Given the description of an element on the screen output the (x, y) to click on. 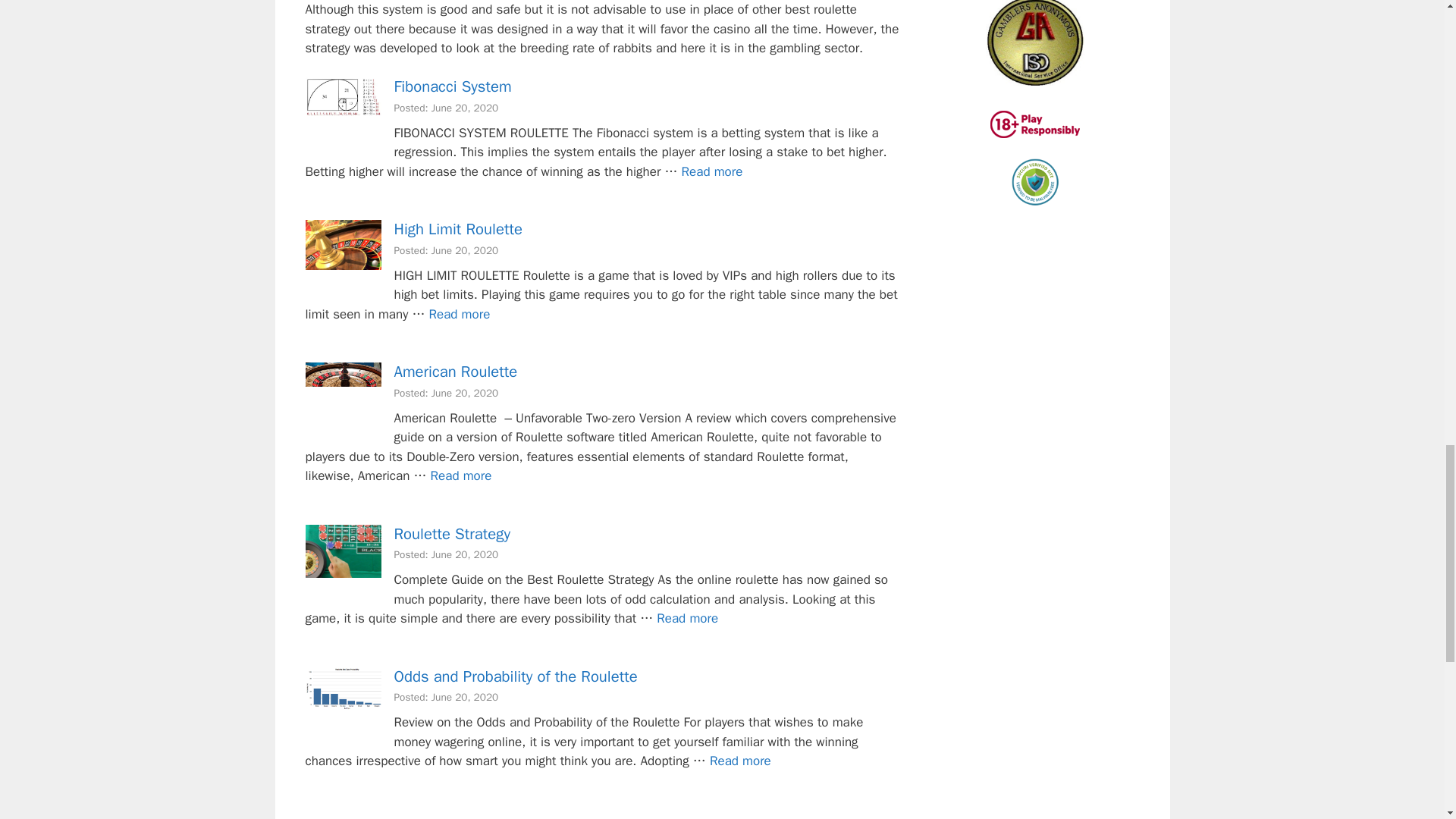
Roulette Strategy (452, 533)
Fibonacci System (453, 86)
Play Responsibly (1035, 124)
Roulette Strategy (686, 618)
Read more (459, 314)
Read more (711, 171)
Read more (461, 475)
Fibonacci System (711, 171)
Odds and Probability of the Roulette (740, 760)
High Limit Roulette (459, 314)
High Limit Roulette (458, 229)
American Roulette (456, 371)
Read more (686, 618)
American Roulette (461, 475)
